Given the description of an element on the screen output the (x, y) to click on. 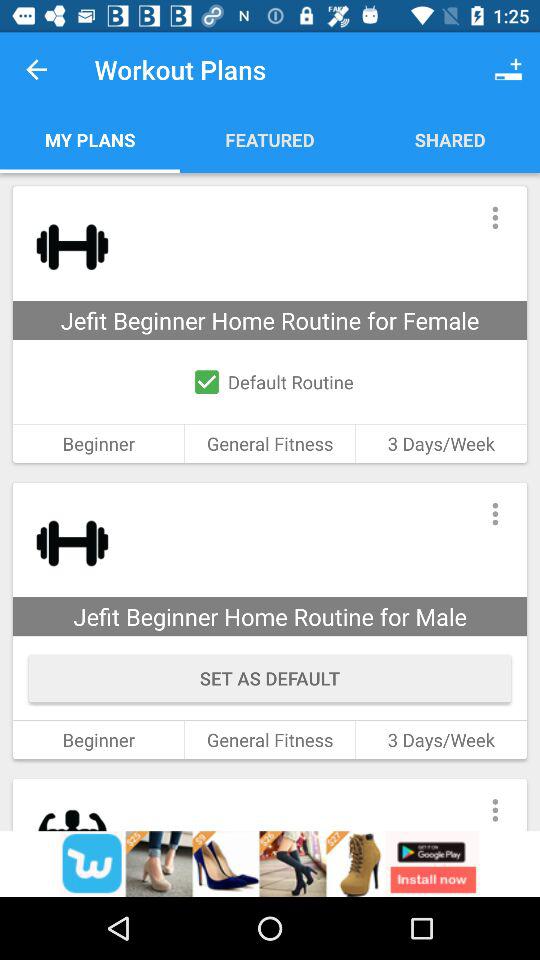
show the dropdown menu (494, 217)
